Given the description of an element on the screen output the (x, y) to click on. 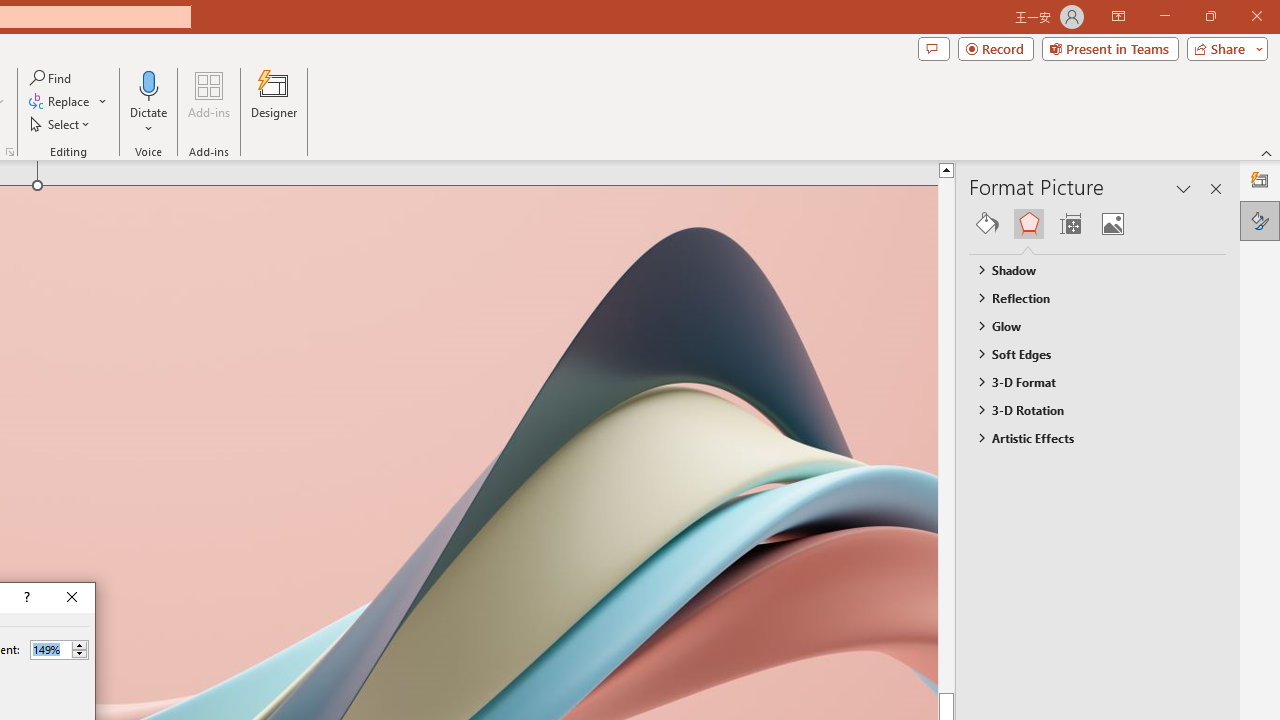
Context help (25, 597)
Size & Properties (1070, 223)
Shadow (1088, 269)
Picture (1112, 223)
Artistic Effects (1088, 438)
Soft Edges (1088, 353)
Page up (983, 434)
Reflection (1088, 297)
3-D Rotation (1088, 410)
Less (79, 654)
Percent (50, 649)
